Given the description of an element on the screen output the (x, y) to click on. 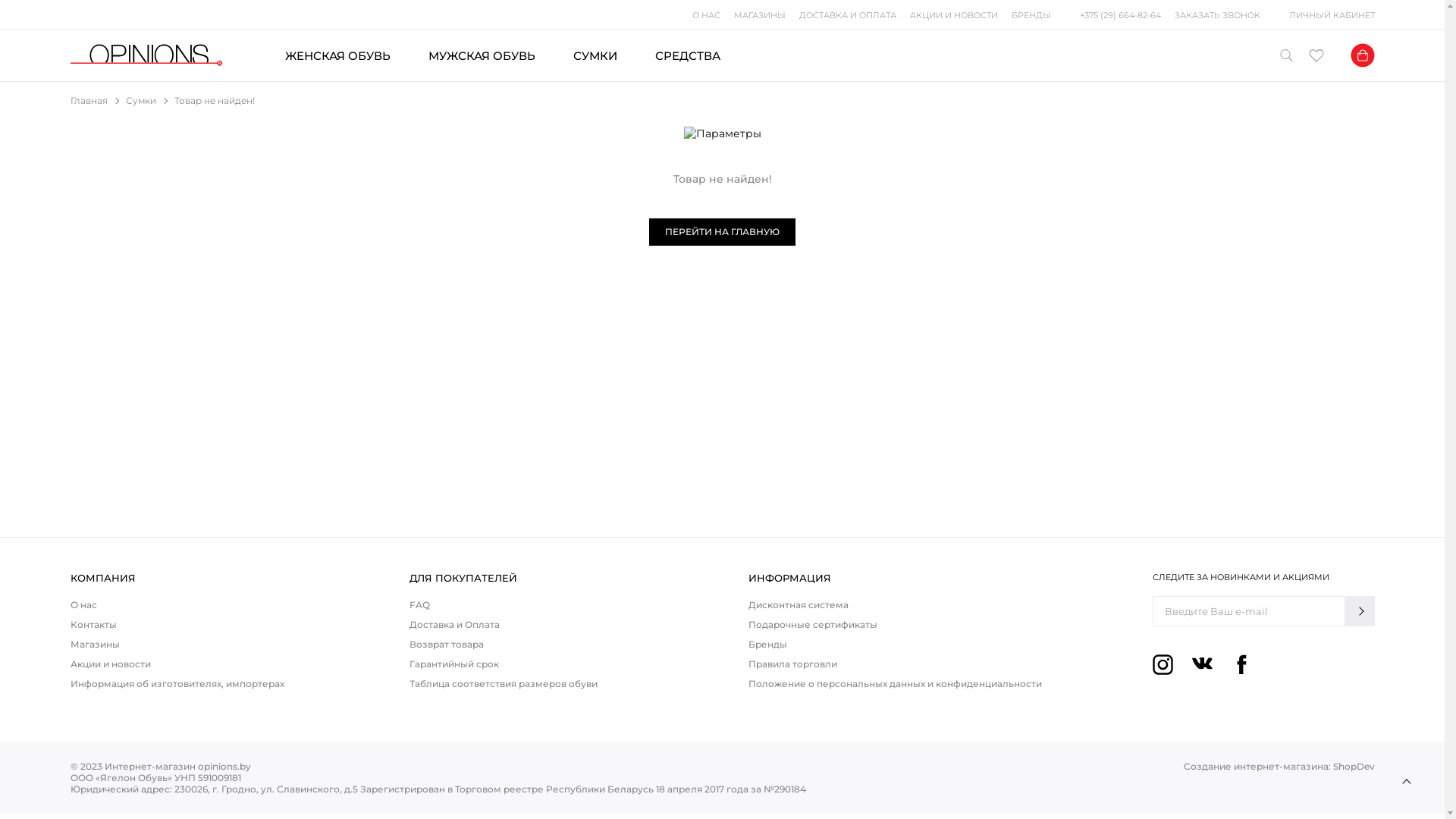
ShopDev Element type: text (1353, 765)
FAQ Element type: text (419, 604)
opinions.by Element type: hover (145, 54)
+375 (29) 664-82-64 Element type: text (1120, 14)
